Given the description of an element on the screen output the (x, y) to click on. 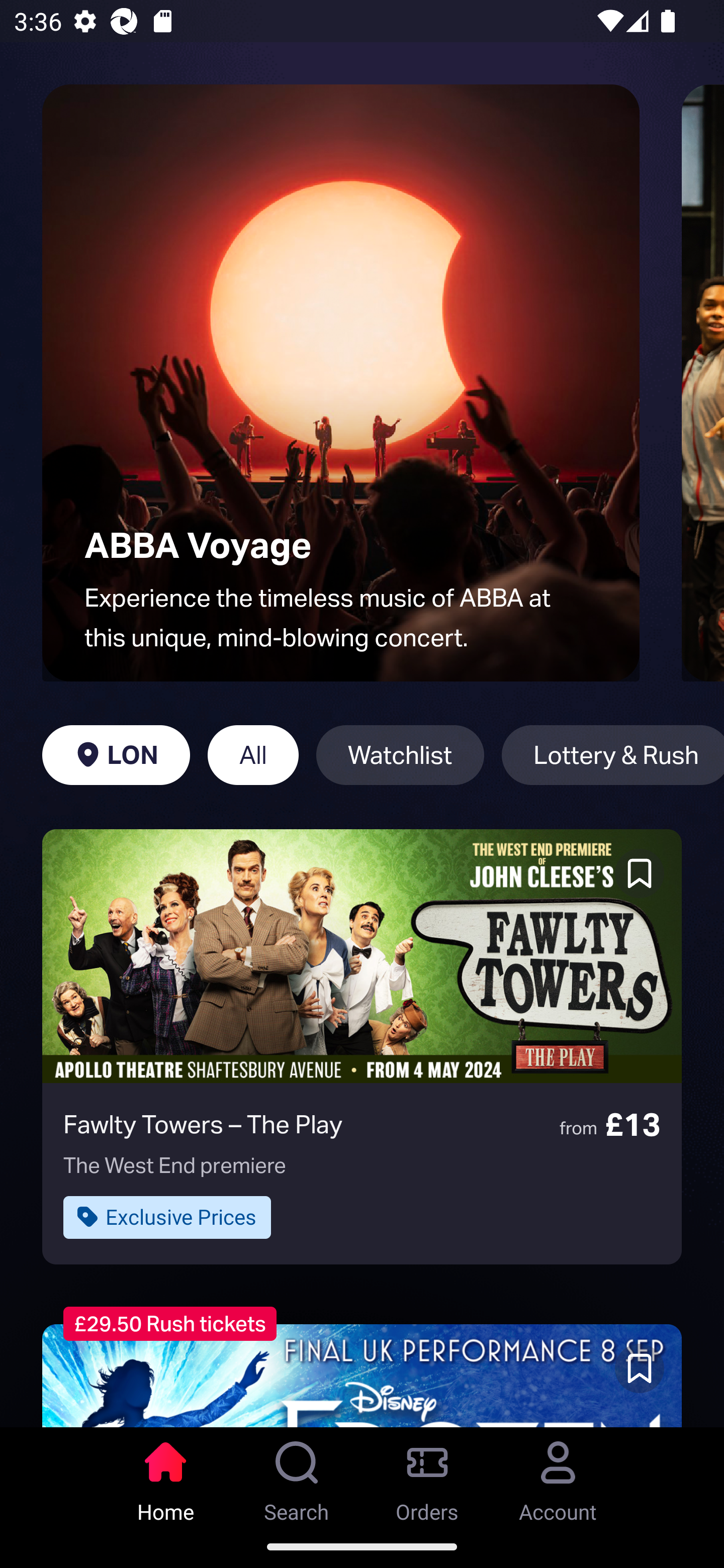
LON (115, 754)
All (252, 754)
Watchlist (400, 754)
Lottery & Rush (612, 754)
Search (296, 1475)
Orders (427, 1475)
Account (558, 1475)
